Given the description of an element on the screen output the (x, y) to click on. 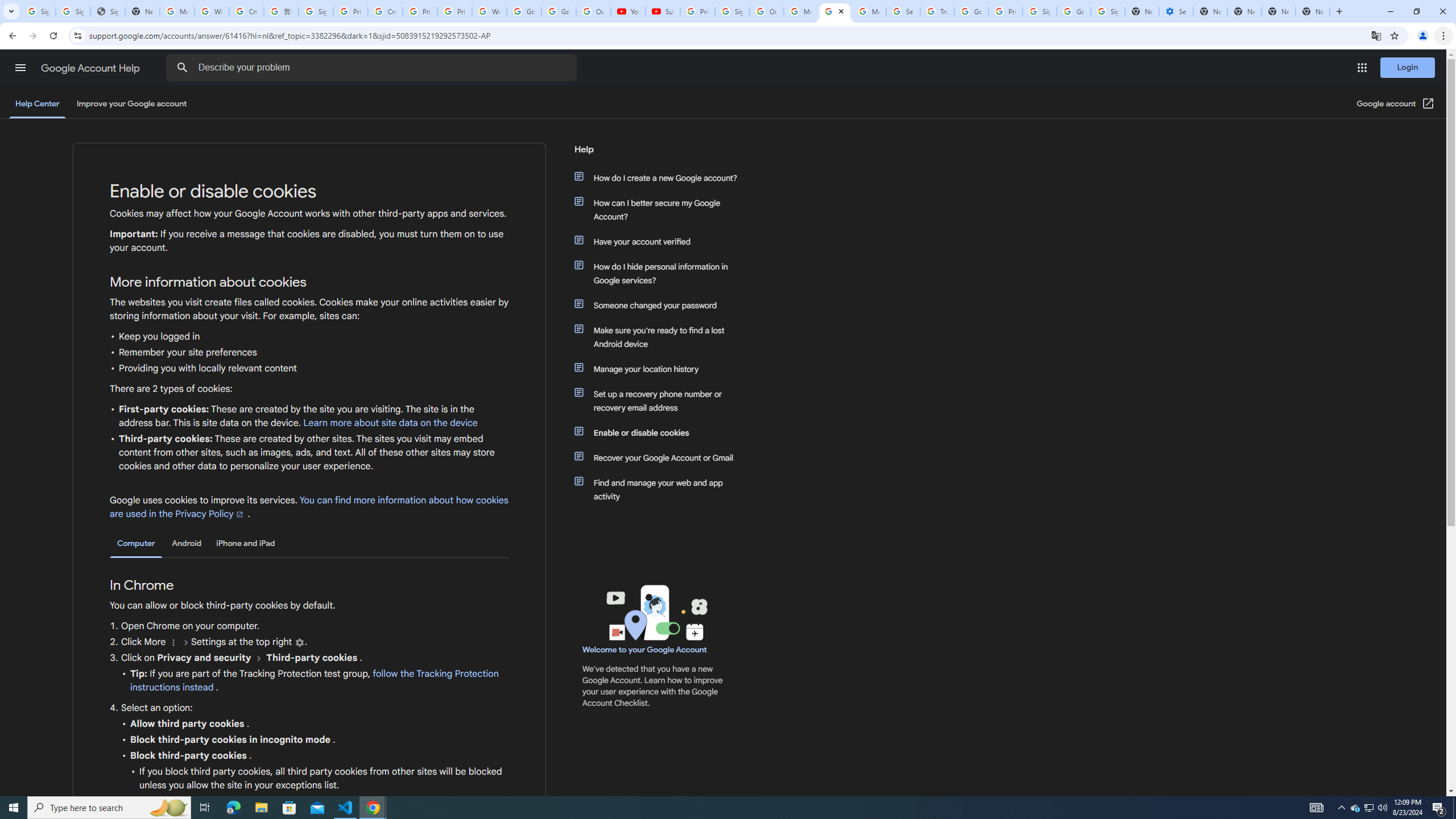
Google Account (557, 11)
Learn more about site data on the device (390, 423)
Welcome to your Google Account (644, 649)
Sign In - USA TODAY (107, 11)
Recover your Google Account or Gmail (661, 457)
YouTube (627, 11)
Someone changed your password (661, 305)
Sign in - Google Accounts (1039, 11)
Google Account Help (91, 68)
Welcome to My Activity (489, 11)
